Given the description of an element on the screen output the (x, y) to click on. 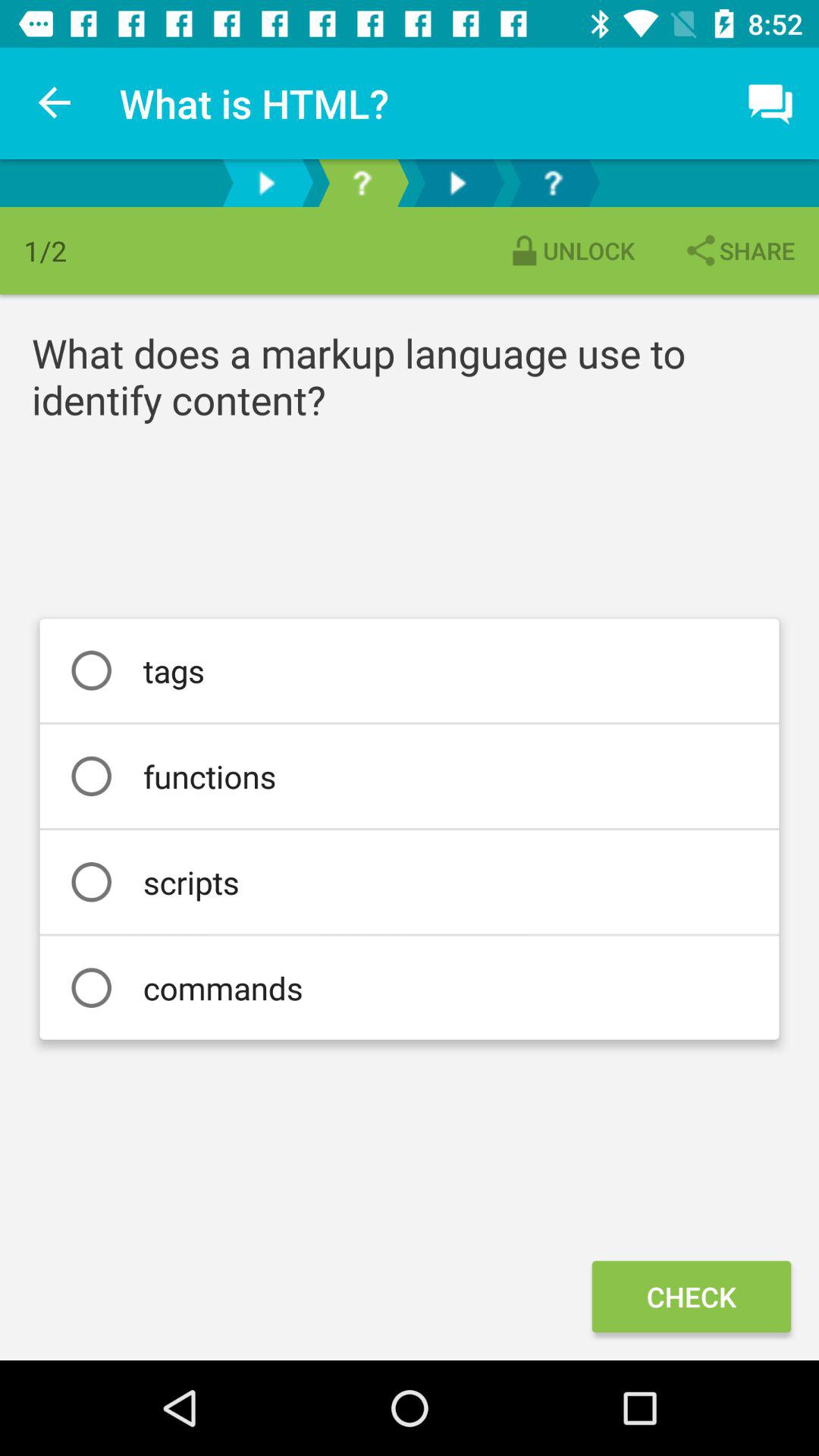
press the icon below the commands (691, 1296)
